Given the description of an element on the screen output the (x, y) to click on. 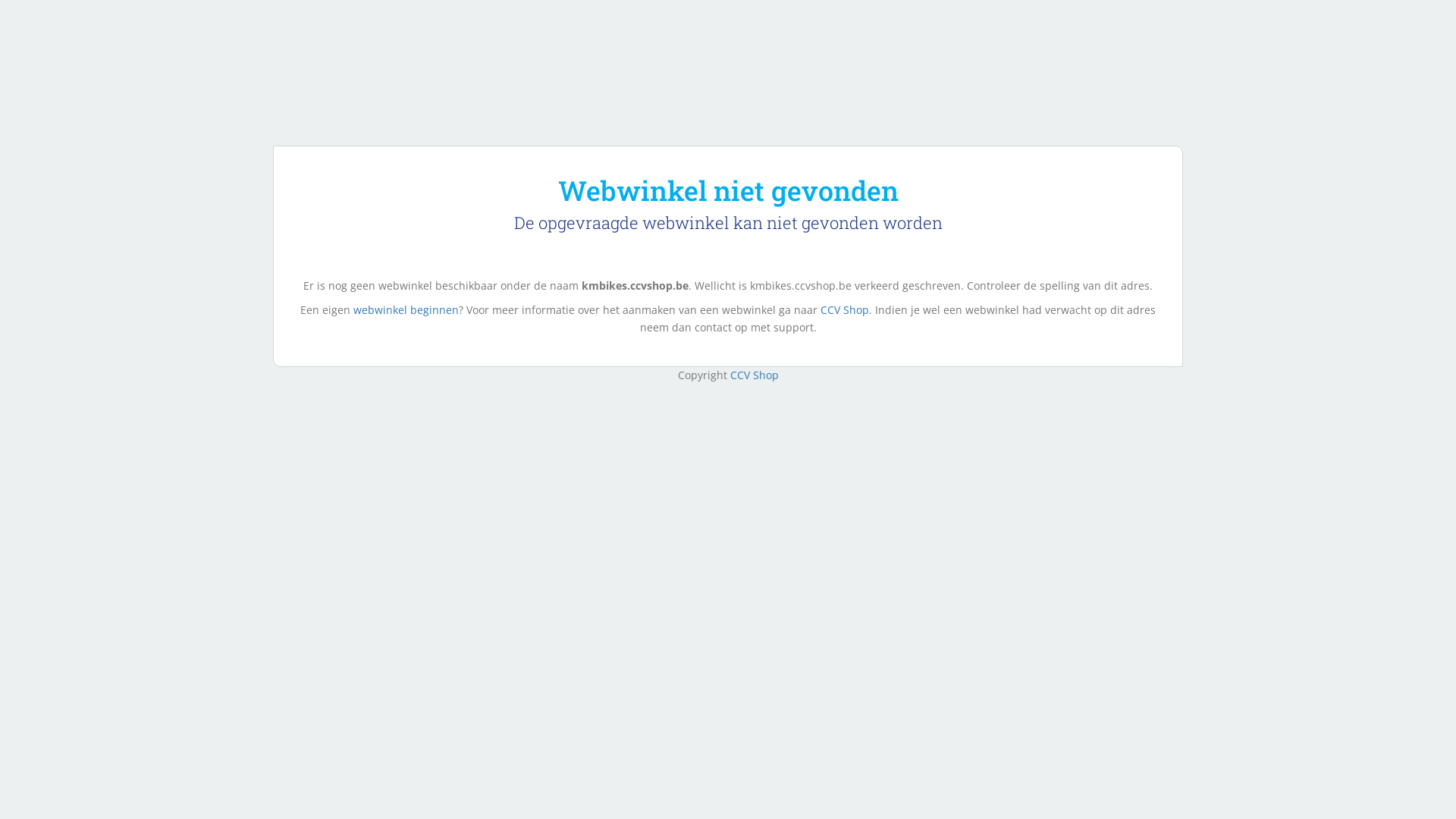
CCV Shop Element type: text (753, 374)
CCV Shop Element type: text (844, 309)
webwinkel beginnen Element type: text (405, 309)
